Given the description of an element on the screen output the (x, y) to click on. 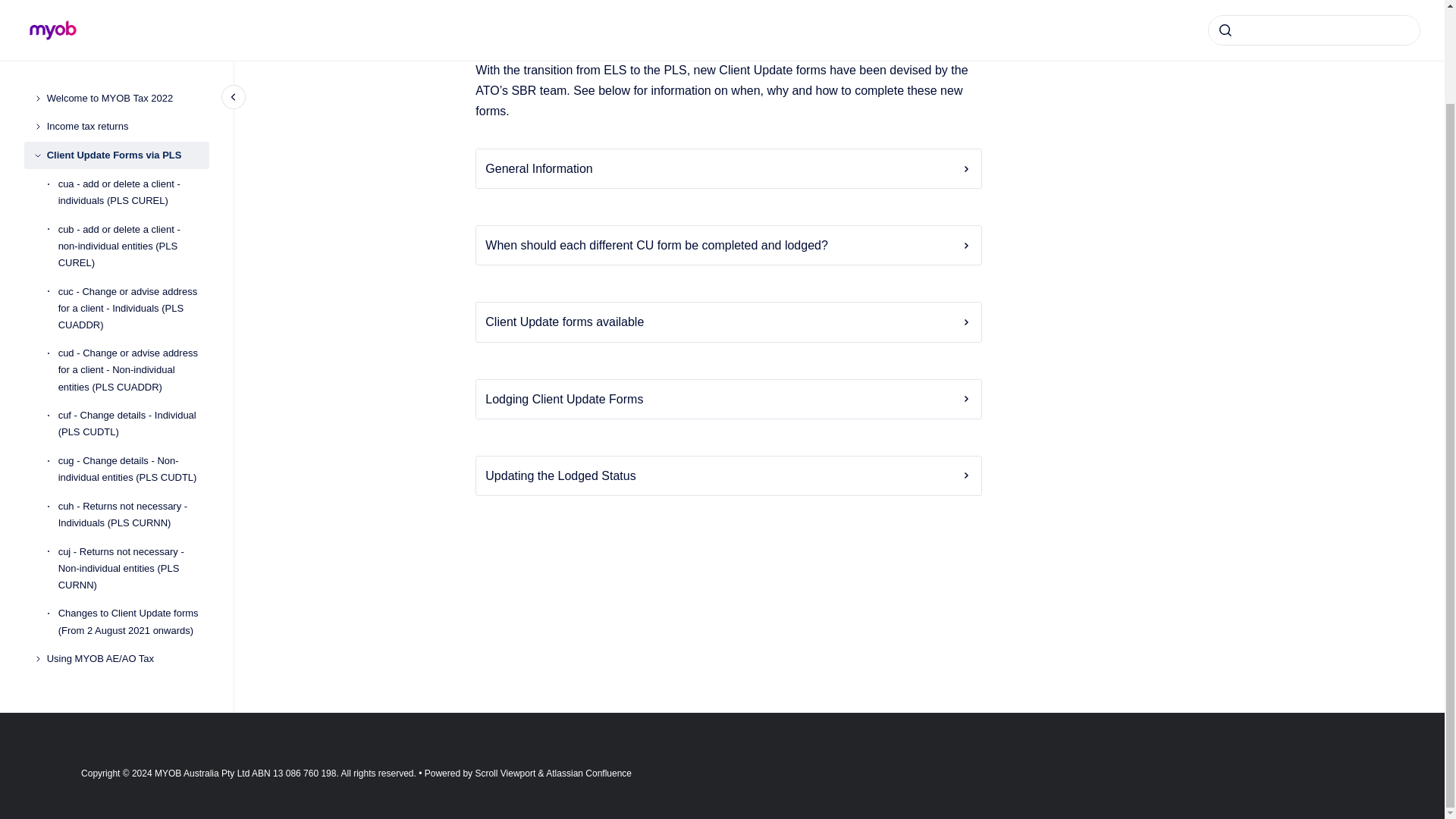
Atlassian Confluence (588, 773)
Welcome to MYOB Tax 2022 (127, 2)
Scroll Viewport (505, 773)
Income tax returns (127, 20)
Client Update Forms via PLS (127, 48)
